Given the description of an element on the screen output the (x, y) to click on. 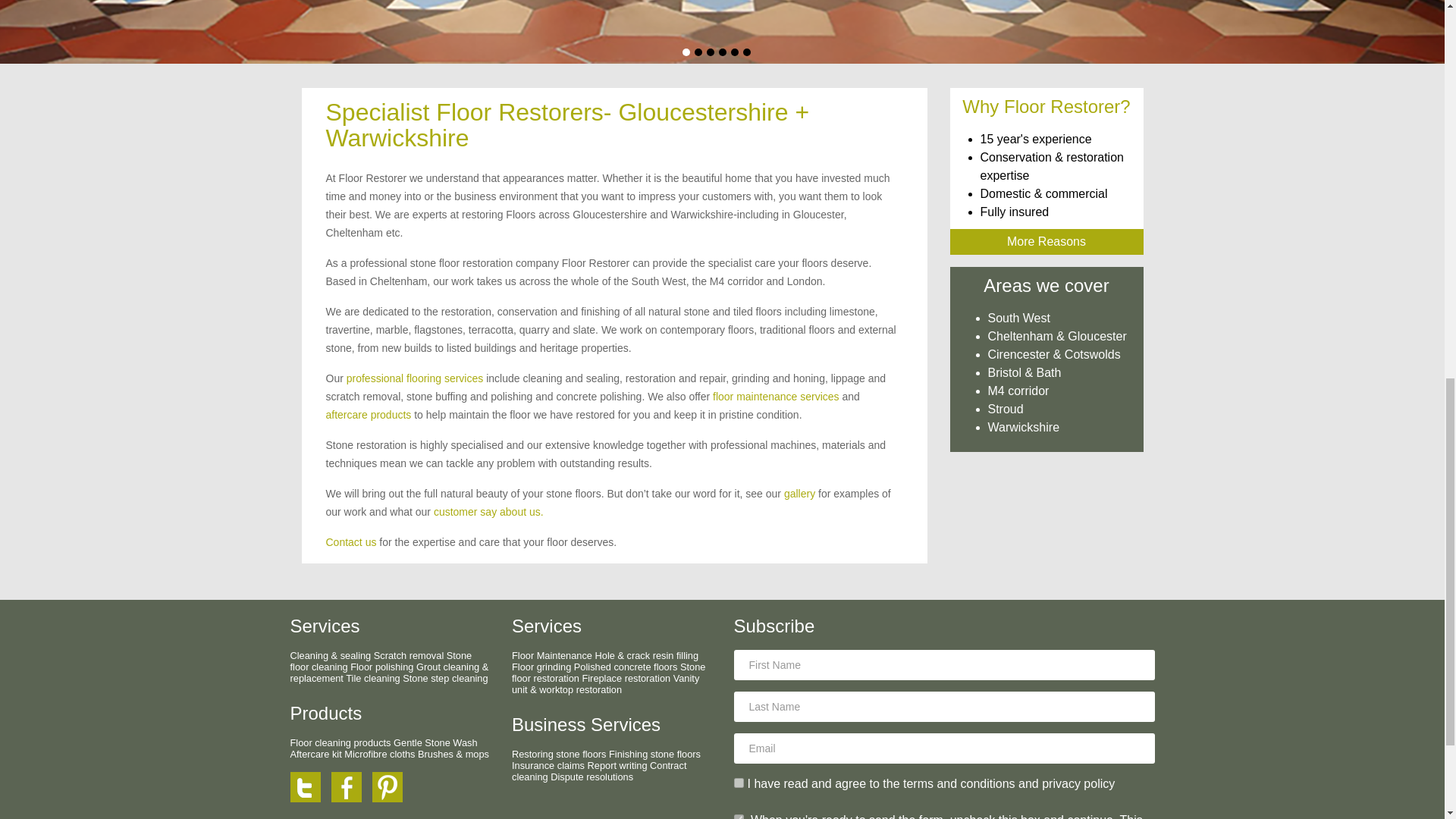
floor maintenance services (776, 396)
Facebook (350, 785)
Pinterest (391, 785)
Contact us (351, 541)
gallery (799, 493)
Twitter (308, 785)
aftercare products (369, 414)
More Reasons (1045, 241)
on (738, 782)
customer say about us. (488, 511)
professional flooring services (414, 378)
on (738, 816)
